Given the description of an element on the screen output the (x, y) to click on. 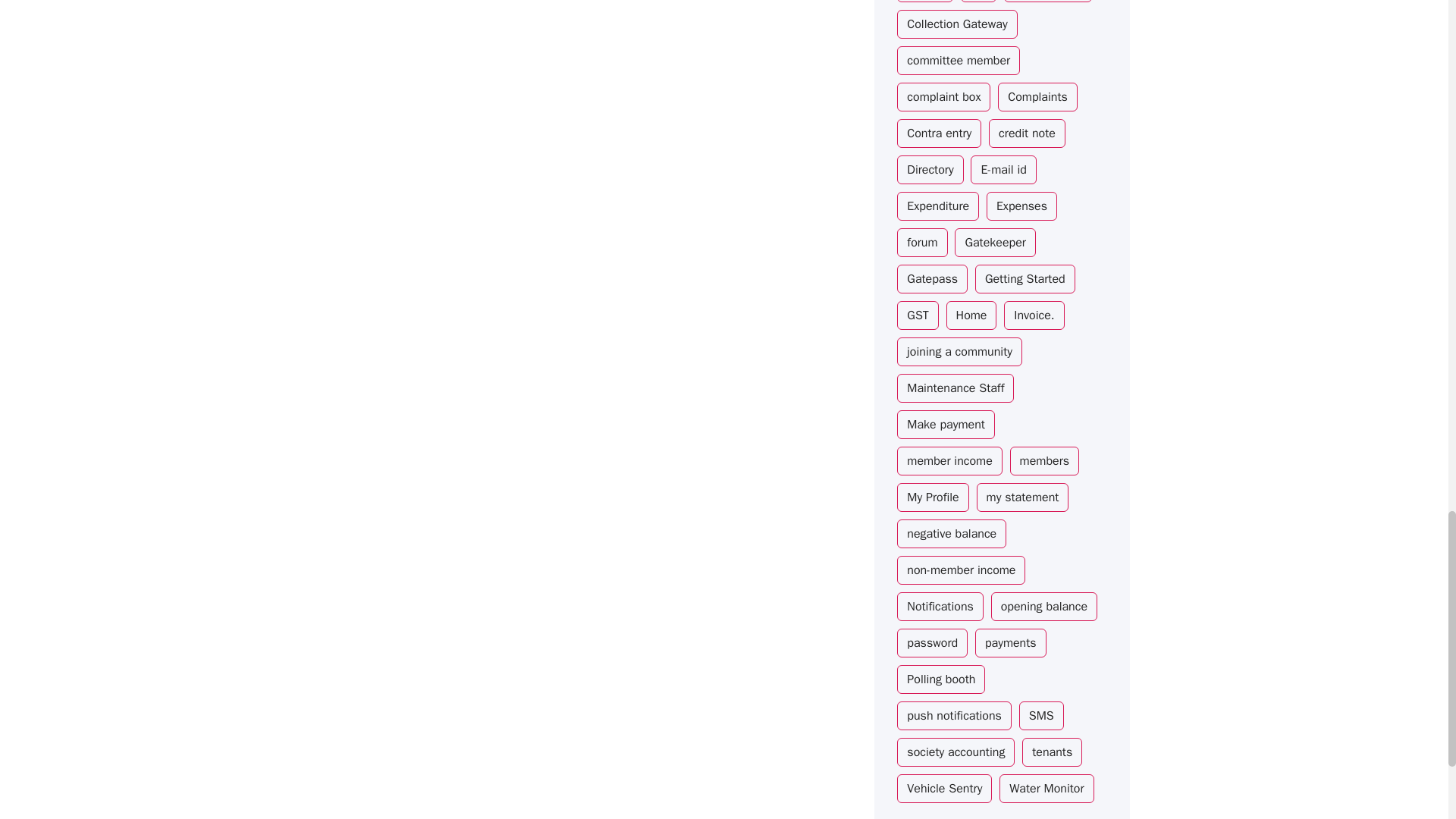
Collection Gateway (956, 23)
cash deposit (1048, 1)
Bill (977, 1)
committee member (958, 60)
Assets (924, 1)
